Given the description of an element on the screen output the (x, y) to click on. 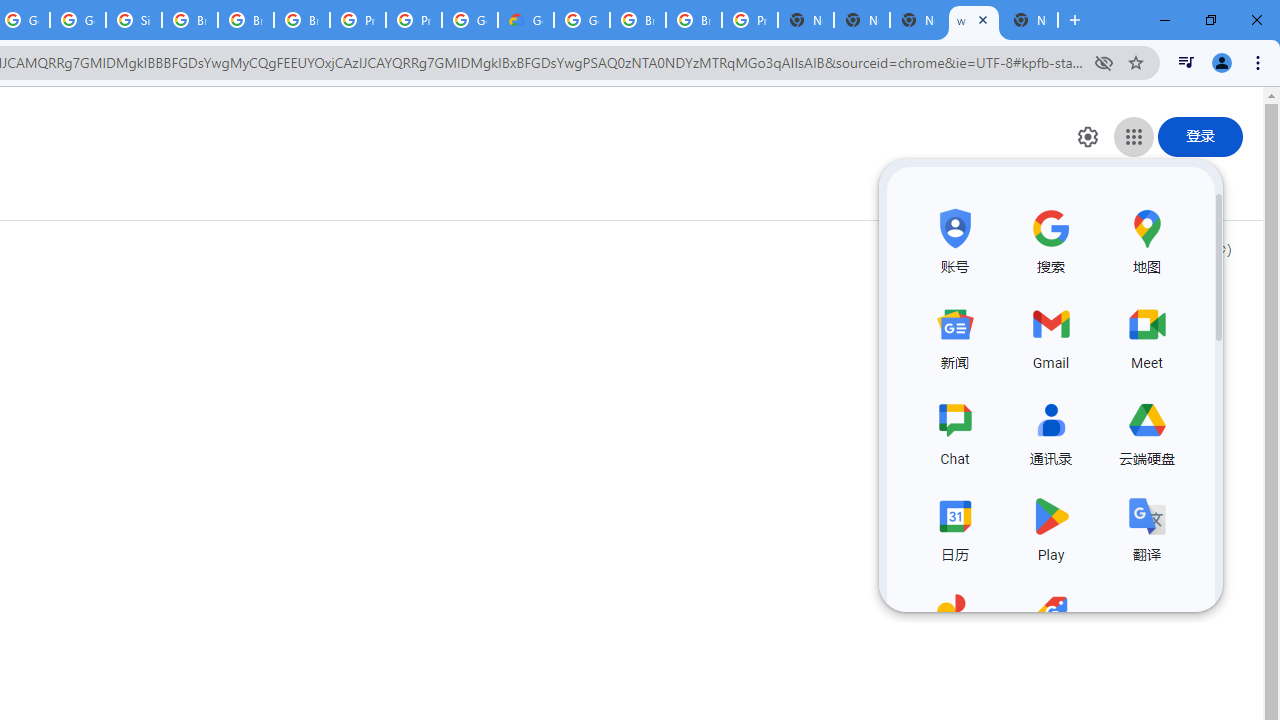
New Tab (806, 20)
Browse Chrome as a guest - Computer - Google Chrome Help (637, 20)
